Given the description of an element on the screen output the (x, y) to click on. 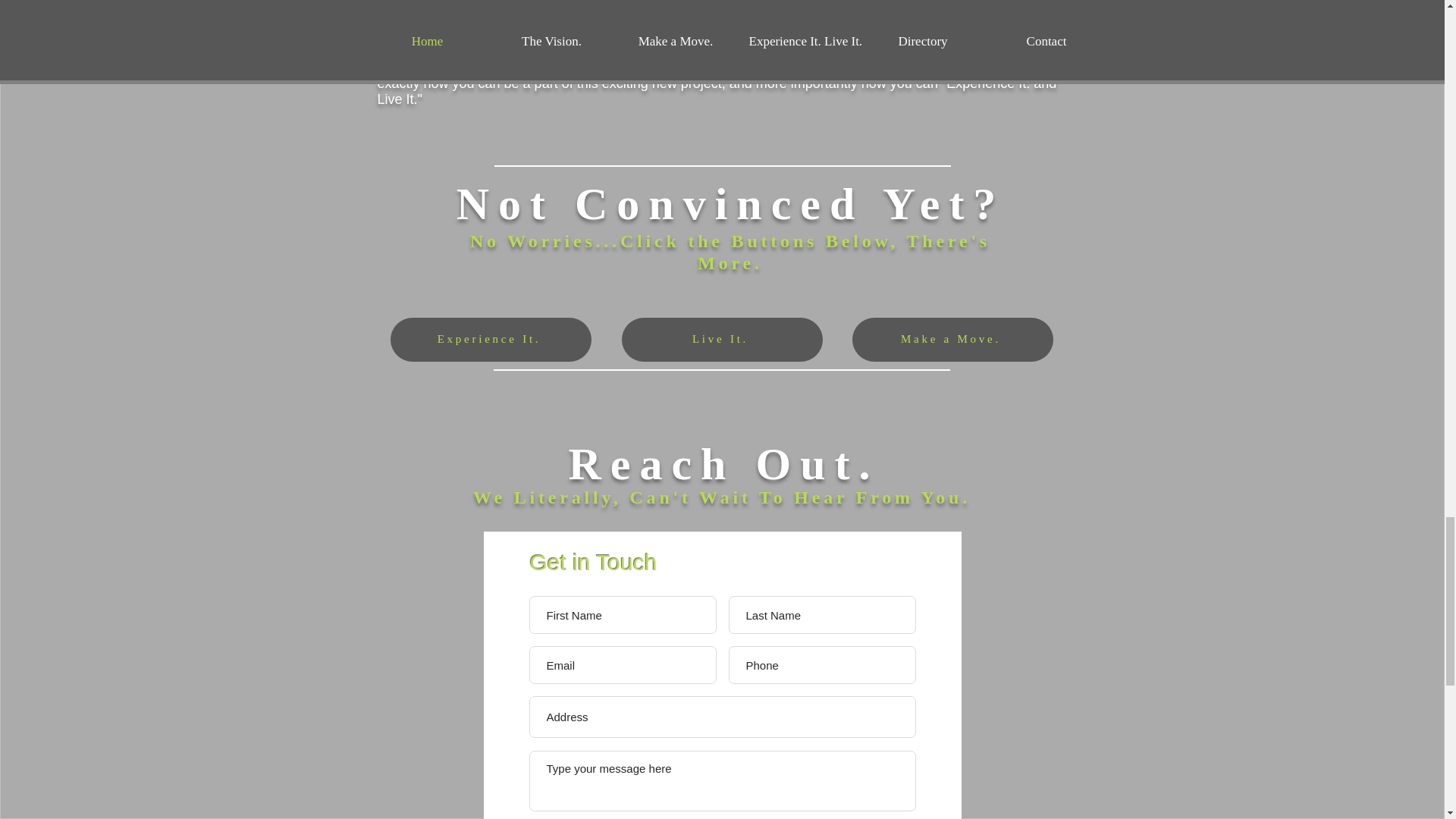
Make a Move. (951, 339)
Experience It. (490, 339)
Live It. (721, 339)
